Given the description of an element on the screen output the (x, y) to click on. 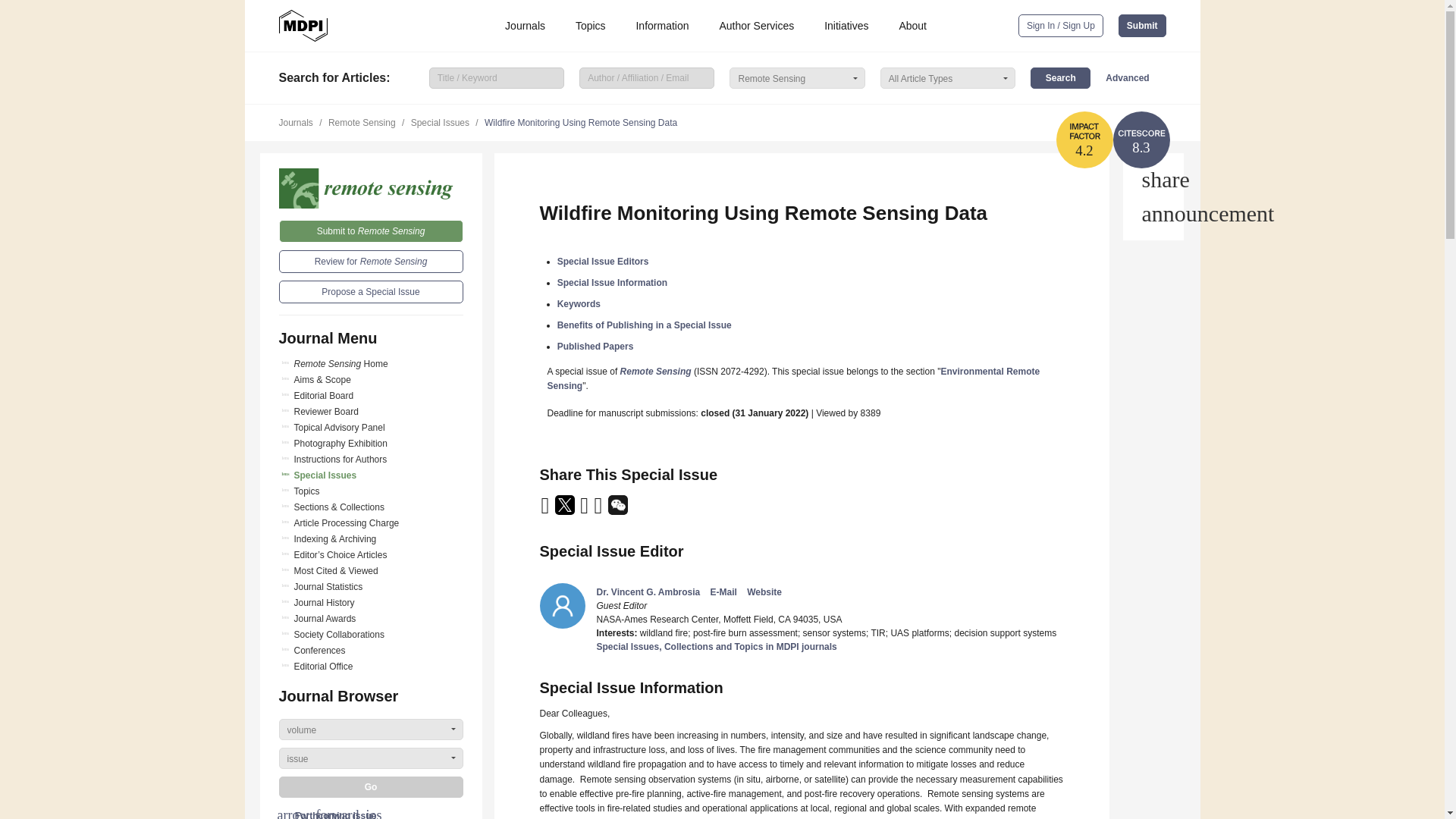
Wechat (617, 510)
Share (1152, 179)
Search (1060, 77)
facebook (599, 510)
Go (371, 786)
Email (546, 510)
MDPI Open Access Journals (303, 25)
Twitter (565, 510)
Search (1060, 77)
LinkedIn (585, 510)
